Given the description of an element on the screen output the (x, y) to click on. 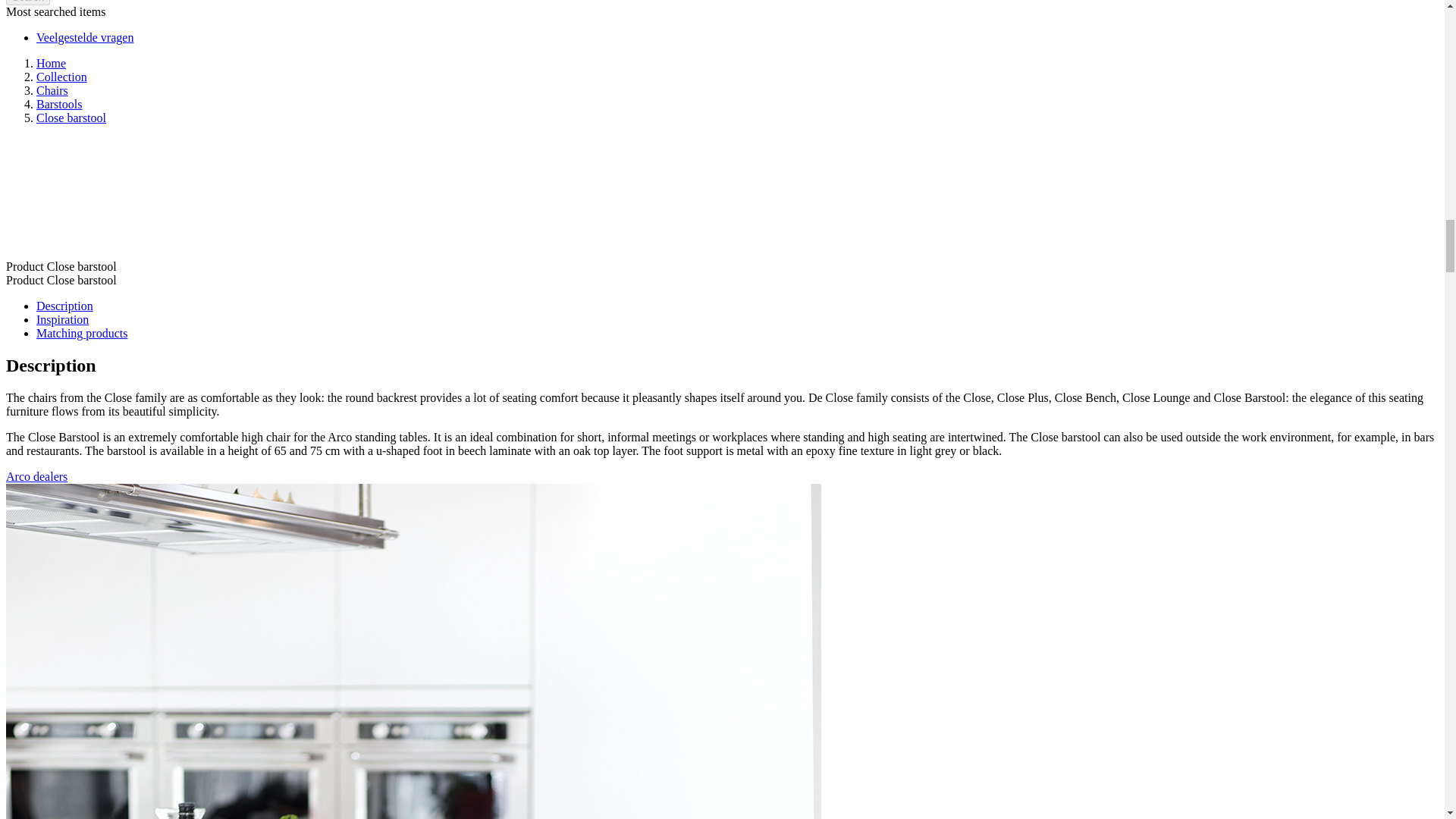
Inspiration (62, 318)
Matching products (82, 332)
Description (64, 305)
